Given the description of an element on the screen output the (x, y) to click on. 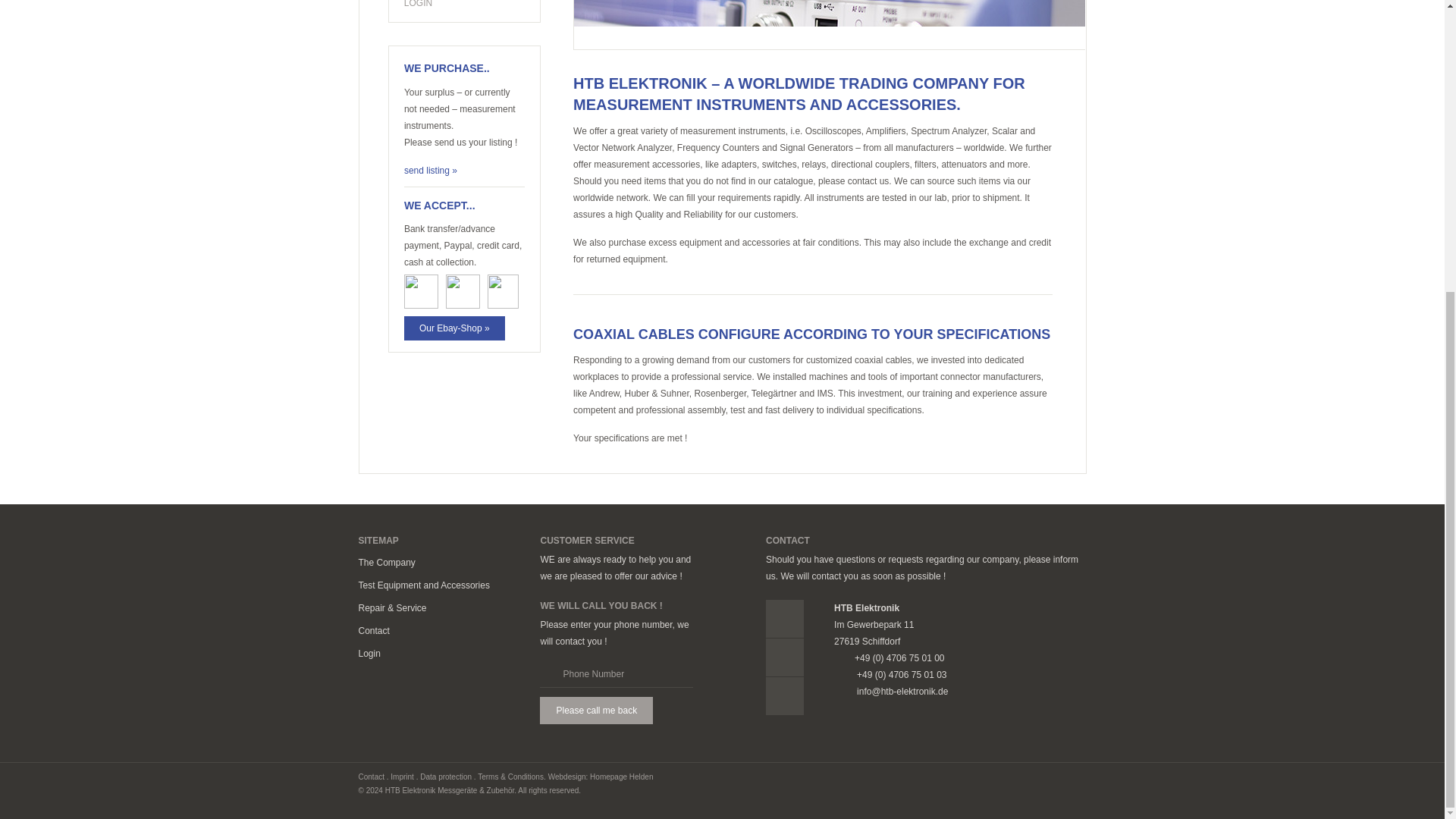
Please call me back (596, 709)
Contact (373, 630)
Test Equipment and Accessories (423, 584)
Login (369, 653)
Please call me back (596, 709)
LOGIN (464, 11)
The Company (386, 562)
